Given the description of an element on the screen output the (x, y) to click on. 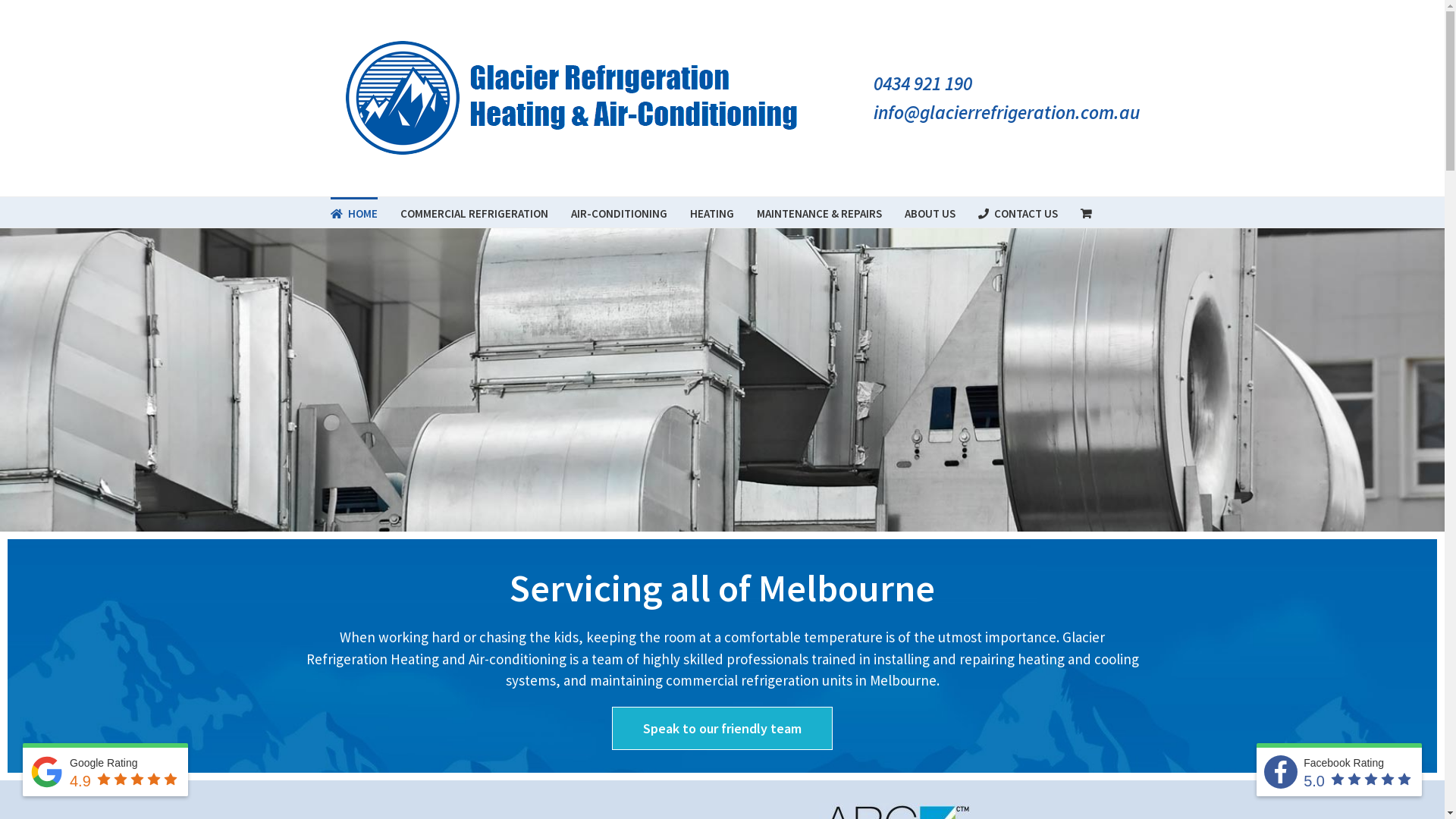
CONTACT US Element type: text (1017, 212)
ABOUT US Element type: text (929, 212)
HEATING Element type: text (712, 212)
0434 921 190 Element type: text (922, 83)
AIR-CONDITIONING Element type: text (619, 212)
HOME Element type: text (353, 212)
COMMERCIAL REFRIGERATION Element type: text (474, 212)
MAINTENANCE & REPAIRS Element type: text (818, 212)
info@glacierrefrigeration.com.au Element type: text (1006, 112)
Speak to our friendly team Element type: text (721, 727)
